Given the description of an element on the screen output the (x, y) to click on. 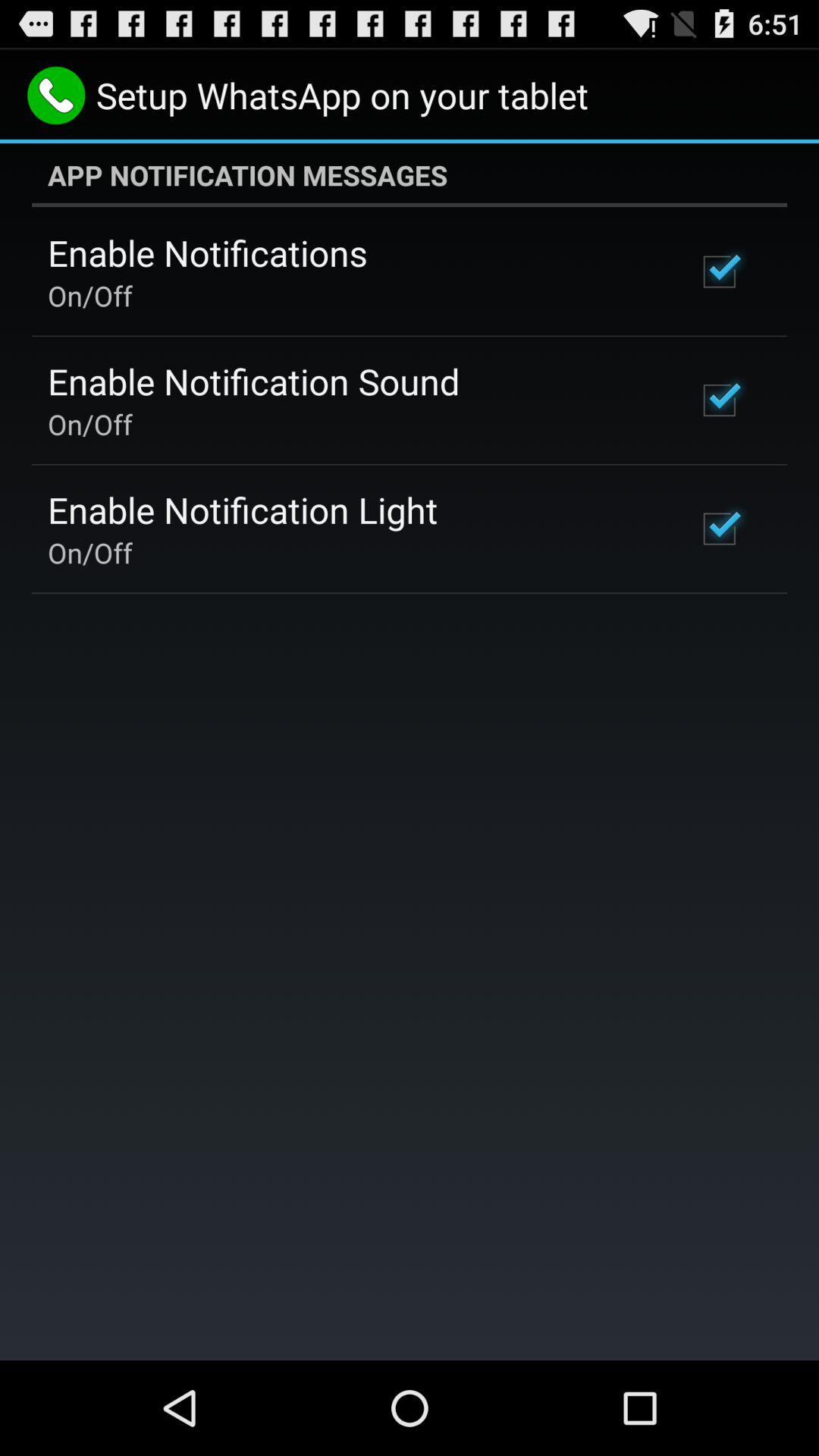
turn on the icon below app notification messages app (207, 252)
